Given the description of an element on the screen output the (x, y) to click on. 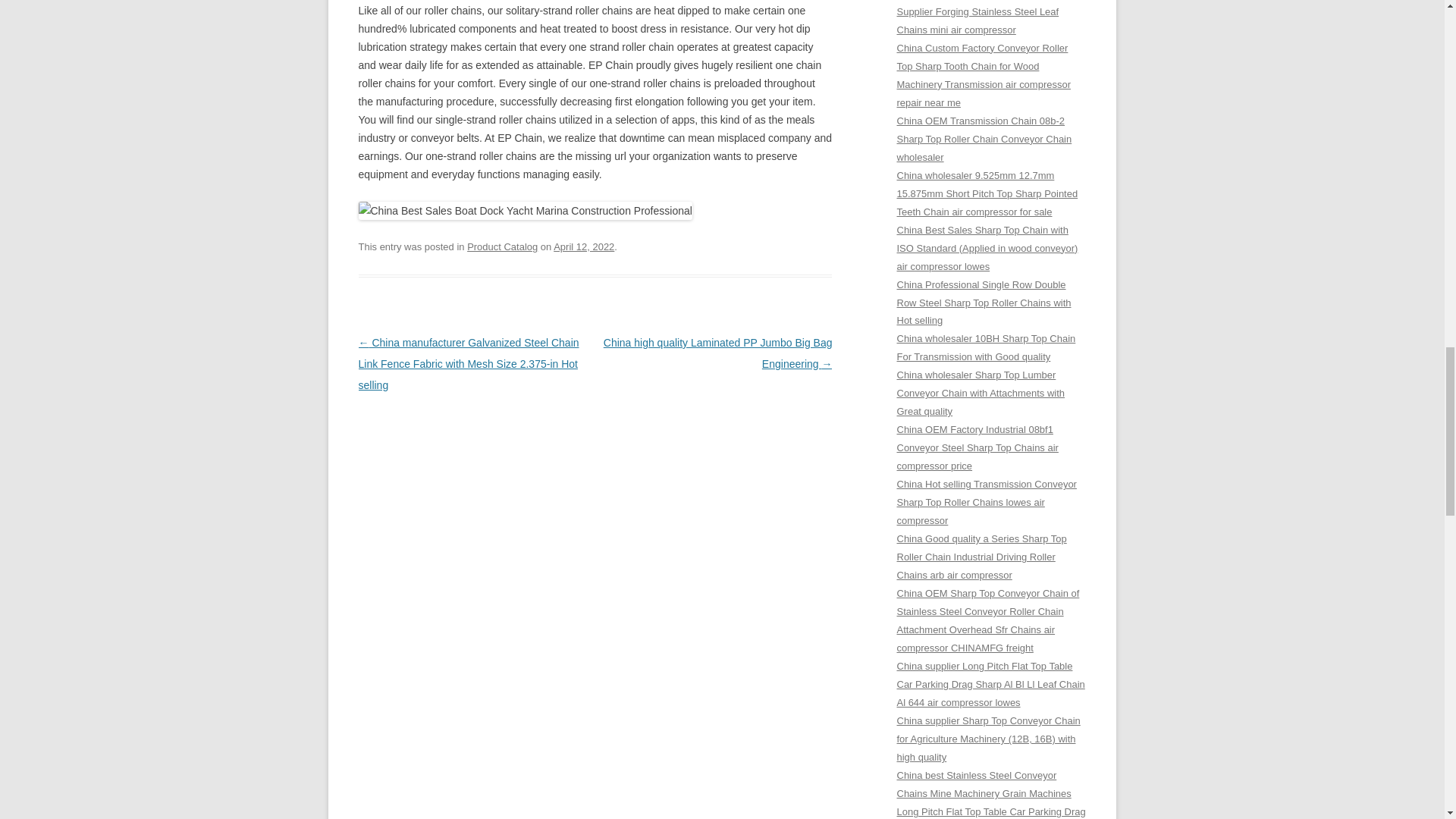
April 12, 2022 (583, 246)
Product Catalog (502, 246)
3:52 pm (583, 246)
